Given the description of an element on the screen output the (x, y) to click on. 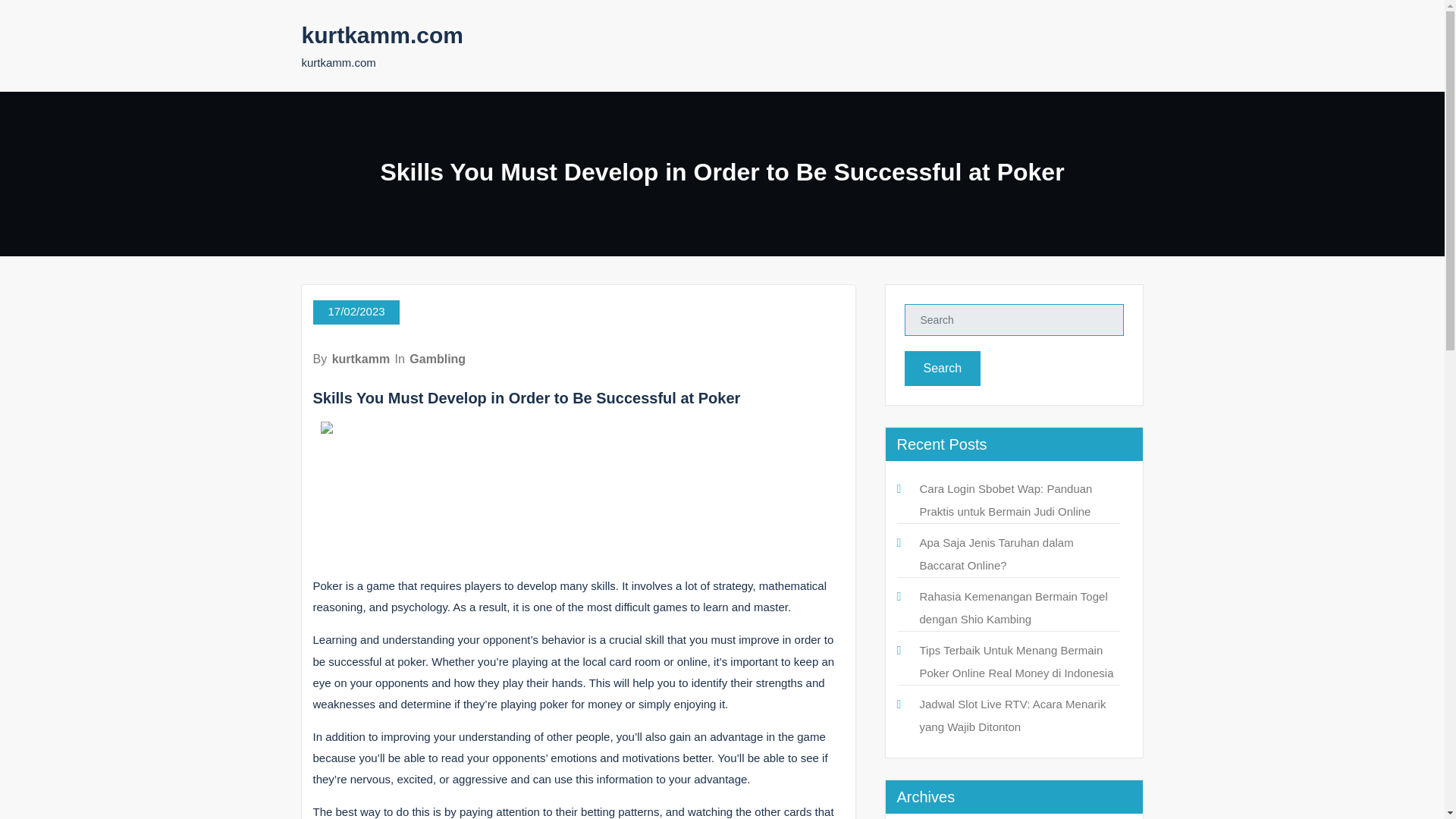
Search (941, 368)
Jadwal Slot Live RTV: Acara Menarik yang Wajib Ditonton (1011, 715)
kurtkamm.com (382, 34)
kurtkamm (360, 358)
Rahasia Kemenangan Bermain Togel dengan Shio Kambing (1012, 607)
Gambling (437, 358)
Apa Saja Jenis Taruhan dalam Baccarat Online? (995, 553)
